Given the description of an element on the screen output the (x, y) to click on. 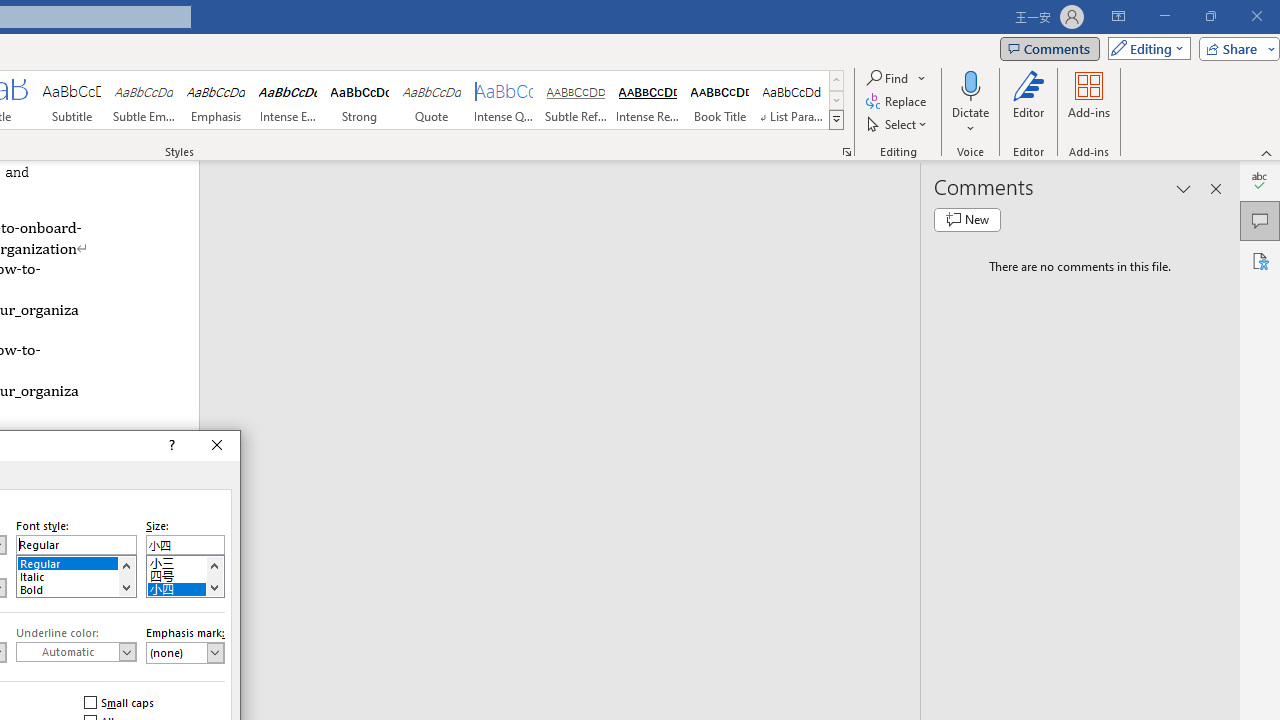
Styles (836, 120)
Row up (836, 79)
Regular (75, 561)
Close (217, 445)
Collapse the Ribbon (1267, 152)
Close pane (1215, 188)
Comments (1260, 220)
Select (898, 124)
Intense Reference (647, 100)
Minimize (1164, 16)
Context help (170, 445)
Share (1235, 48)
Subtitle (71, 100)
